Given the description of an element on the screen output the (x, y) to click on. 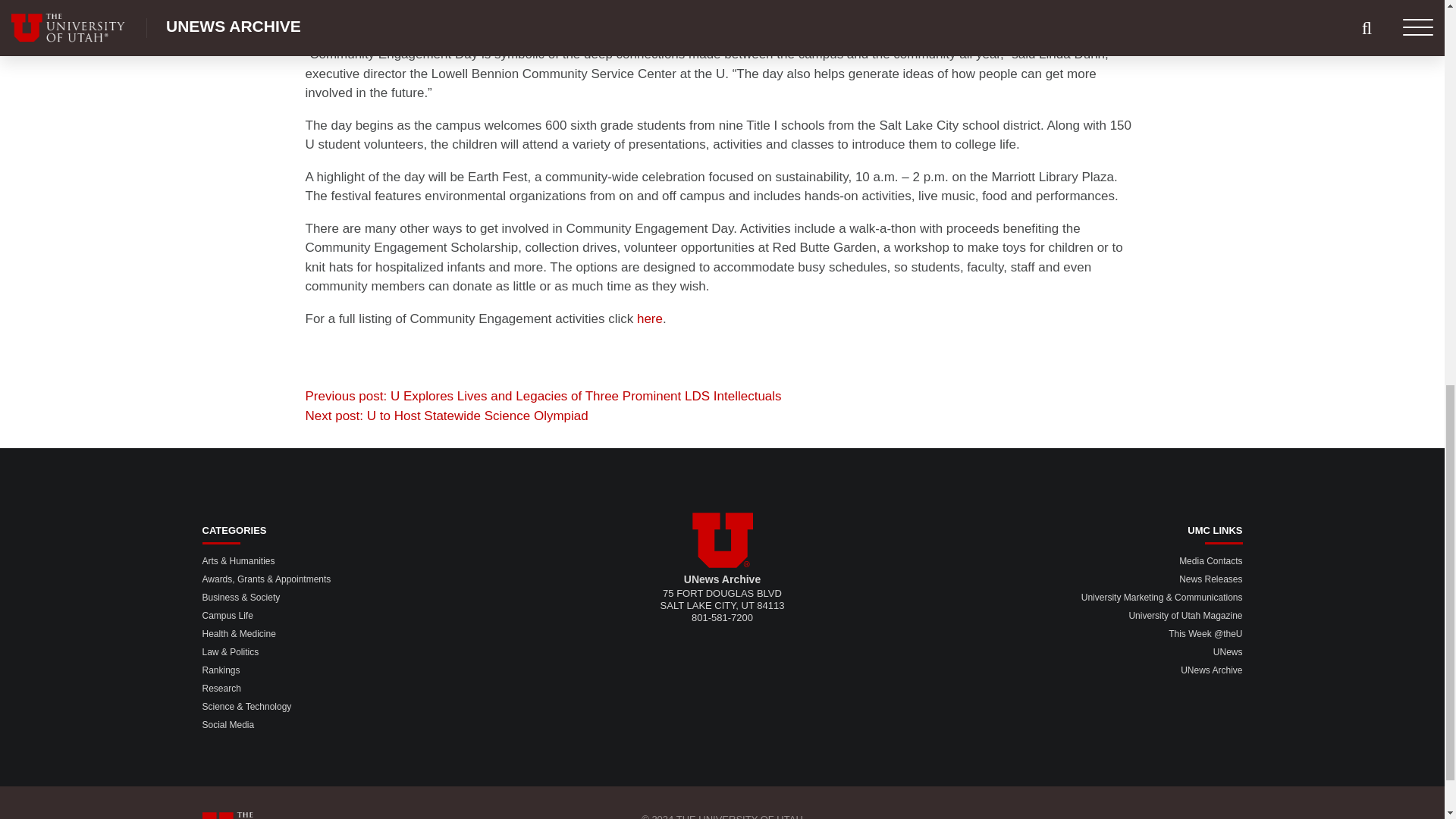
University of Utah (721, 540)
News Releases (1210, 579)
Community Engagement Day (649, 318)
Campus Life (226, 615)
UNews (1227, 652)
Next post: U to Host Statewide Science Olympiad (446, 415)
University of Utah Magazine (1184, 615)
Rankings (221, 670)
Social Media (227, 724)
here (649, 318)
